Given the description of an element on the screen output the (x, y) to click on. 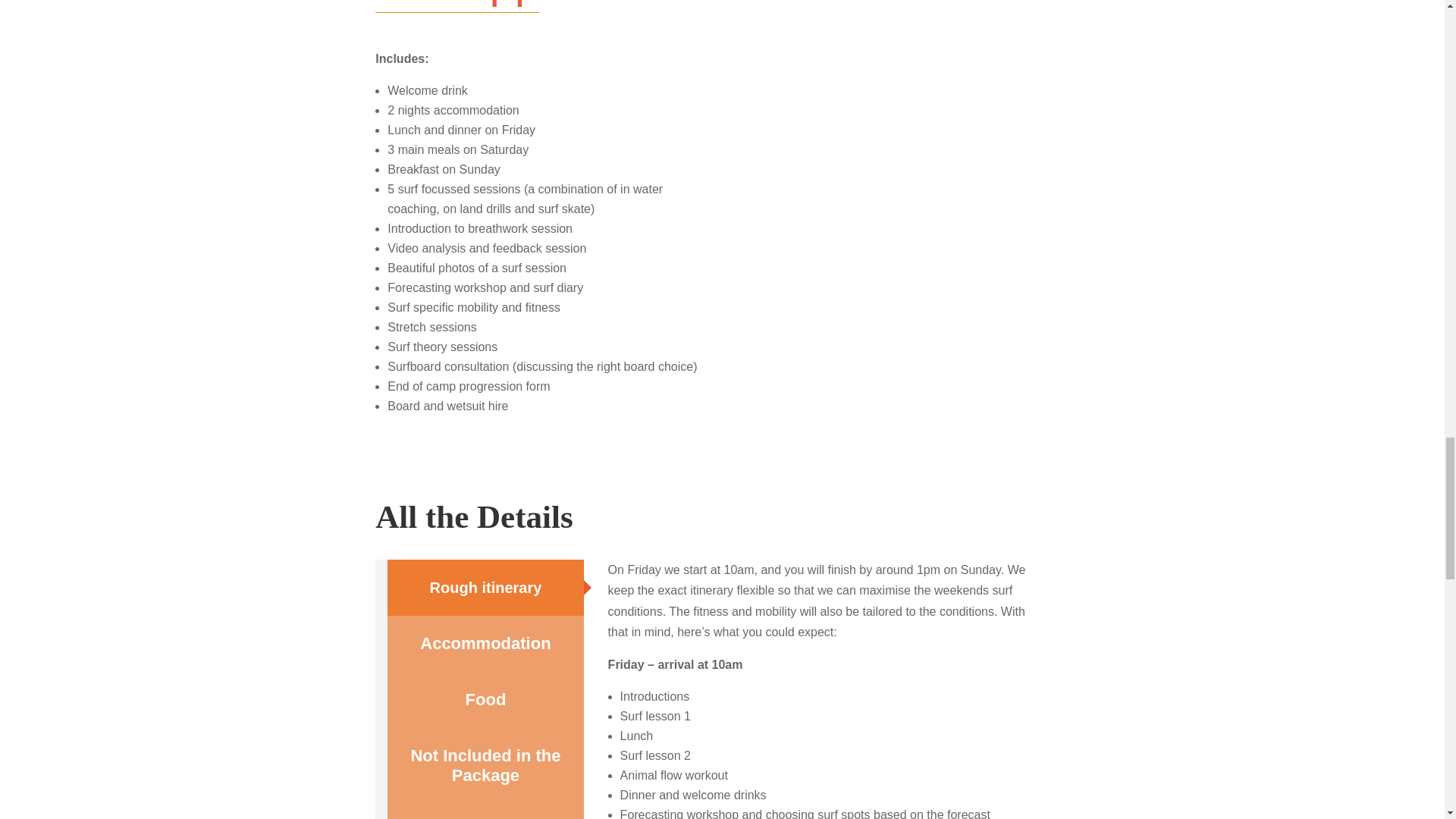
Rough itinerary (485, 587)
If it is Flat (485, 811)
Accommodation (485, 643)
Food (485, 699)
Not Included in the Package (485, 765)
